Given the description of an element on the screen output the (x, y) to click on. 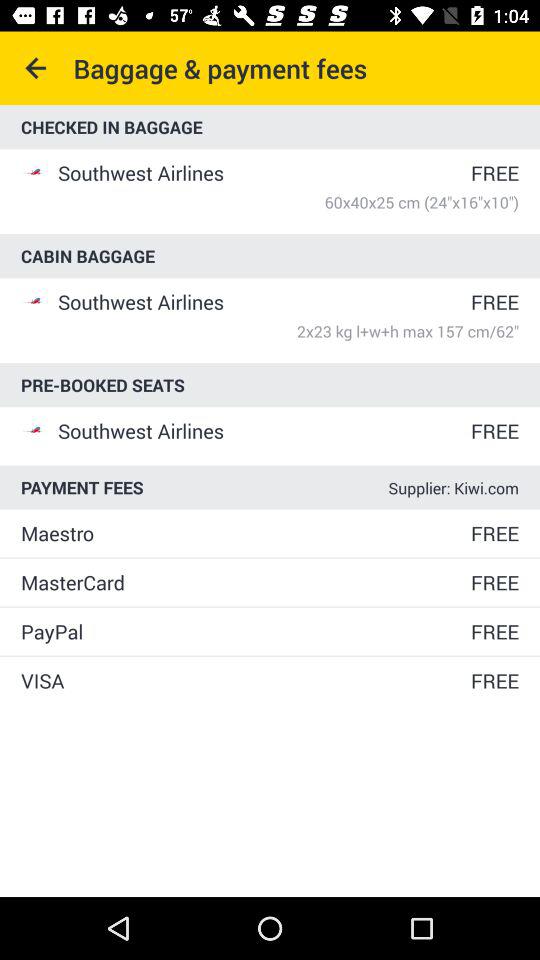
press the icon below maestro (244, 582)
